Given the description of an element on the screen output the (x, y) to click on. 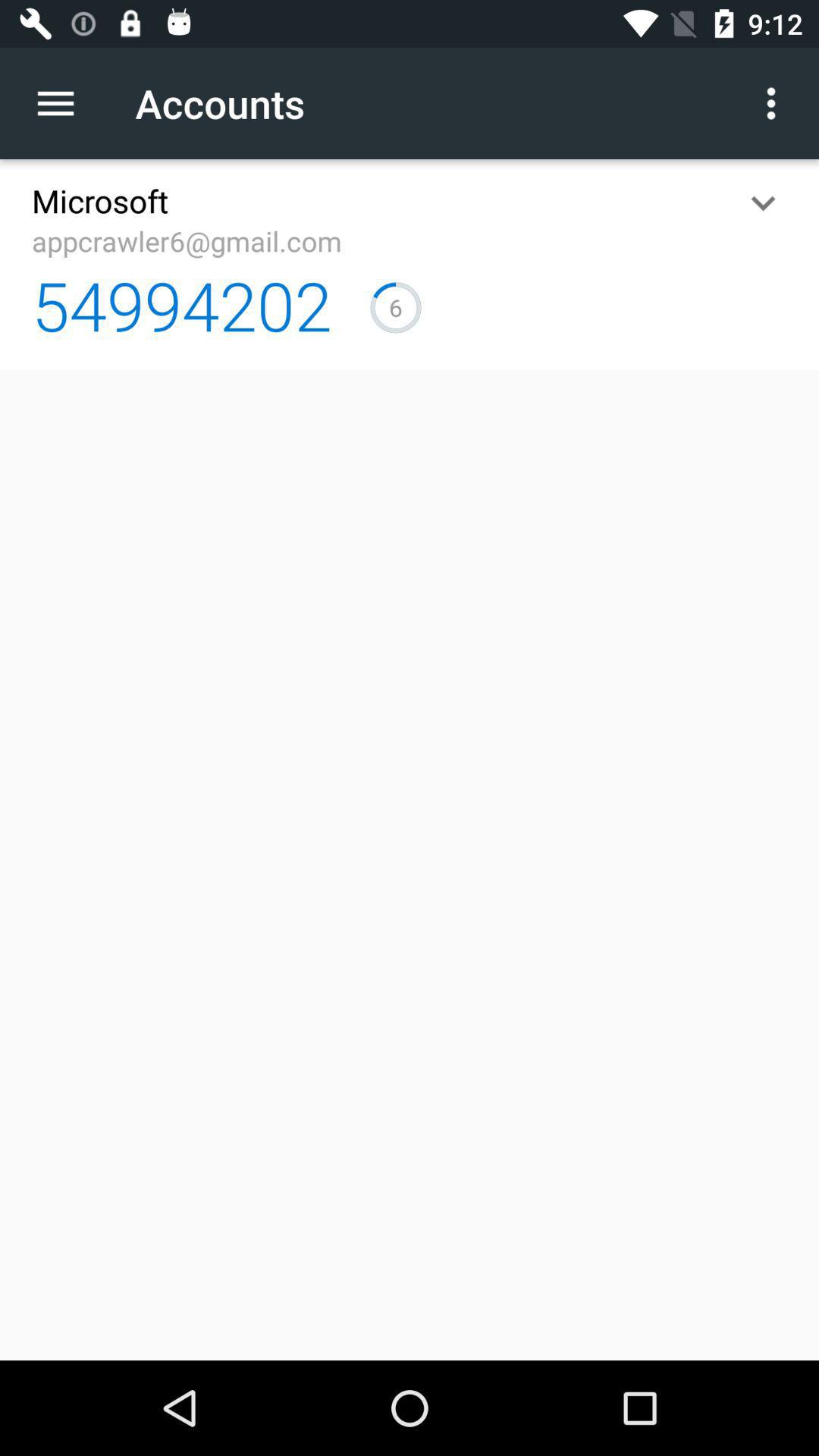
choose item below microsoft icon (186, 240)
